Given the description of an element on the screen output the (x, y) to click on. 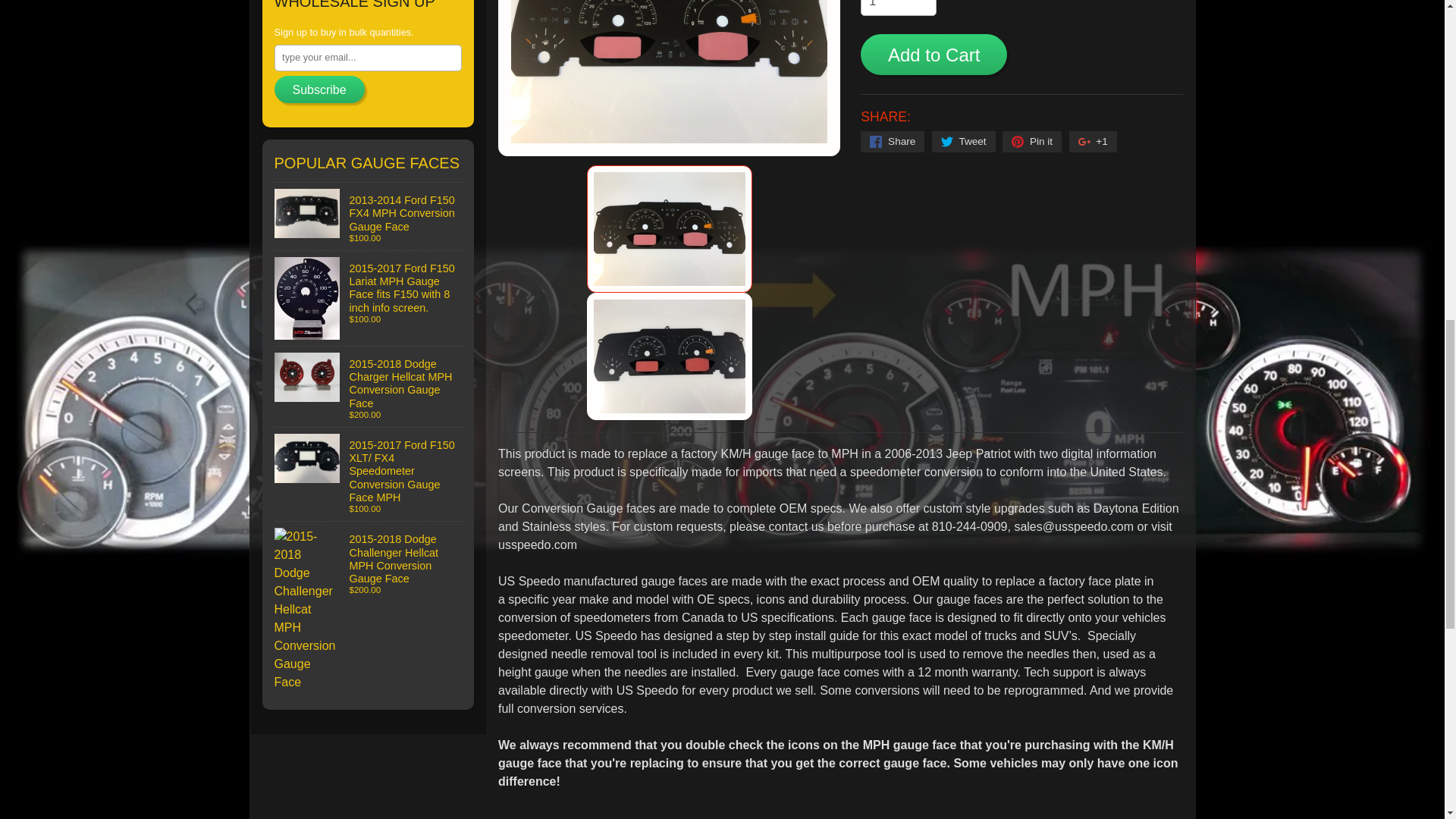
Share on Facebook (892, 141)
Subscribe (320, 89)
2015-2018 Dodge Challenger Hellcat MPH Conversion Gauge Face (369, 609)
Pin on Pinterest (1032, 141)
Tweet on Twitter (963, 141)
1 (898, 8)
2013-2014 Ford F150 FX4 MPH Conversion Gauge Face (369, 216)
2015-2018 Dodge Charger Hellcat MPH Conversion Gauge Face (369, 386)
